Given the description of an element on the screen output the (x, y) to click on. 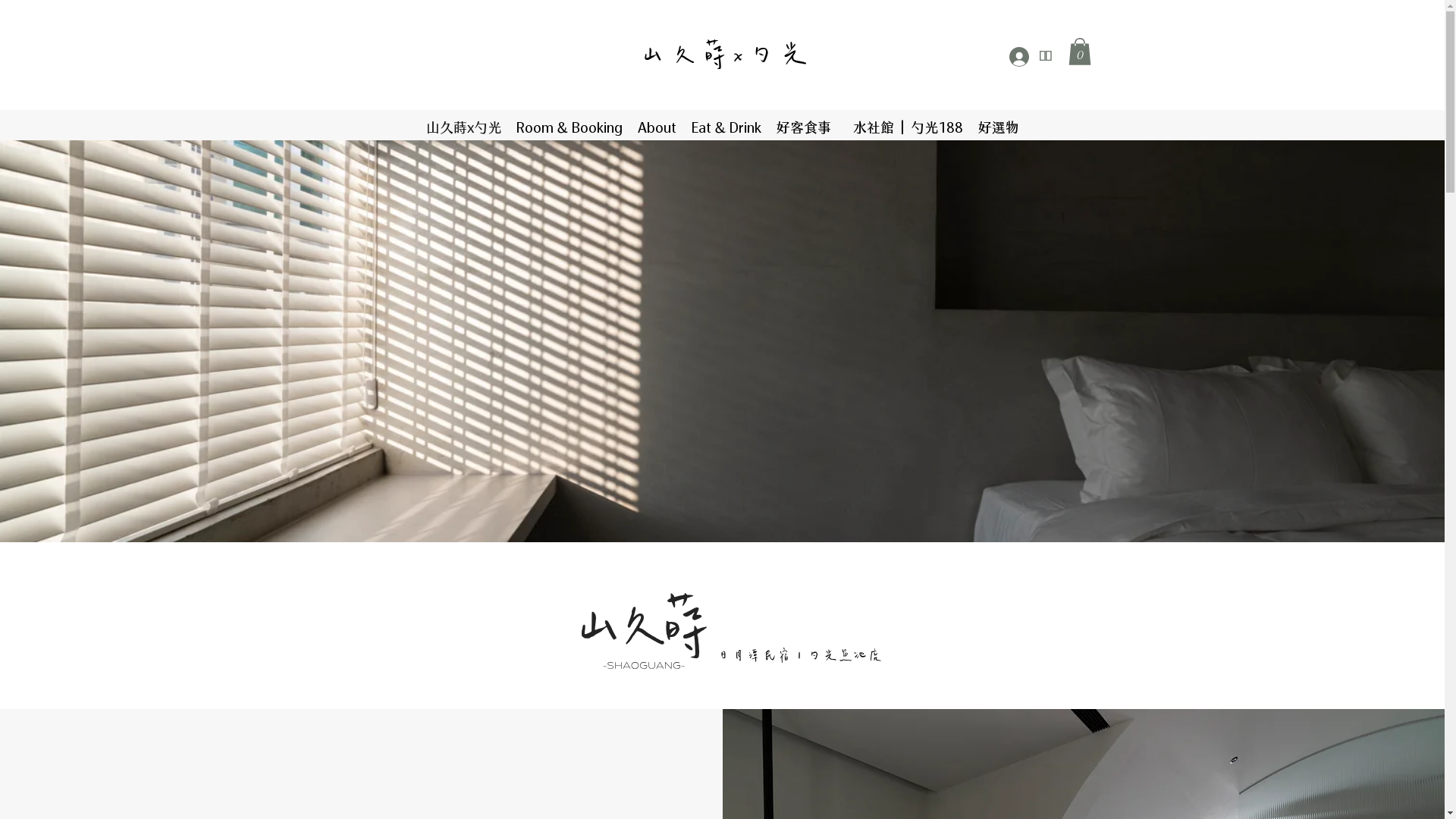
Eat & Drink Element type: text (726, 124)
0 Element type: text (1078, 51)
Room & Booking Element type: text (568, 124)
About Element type: text (656, 124)
